Given the description of an element on the screen output the (x, y) to click on. 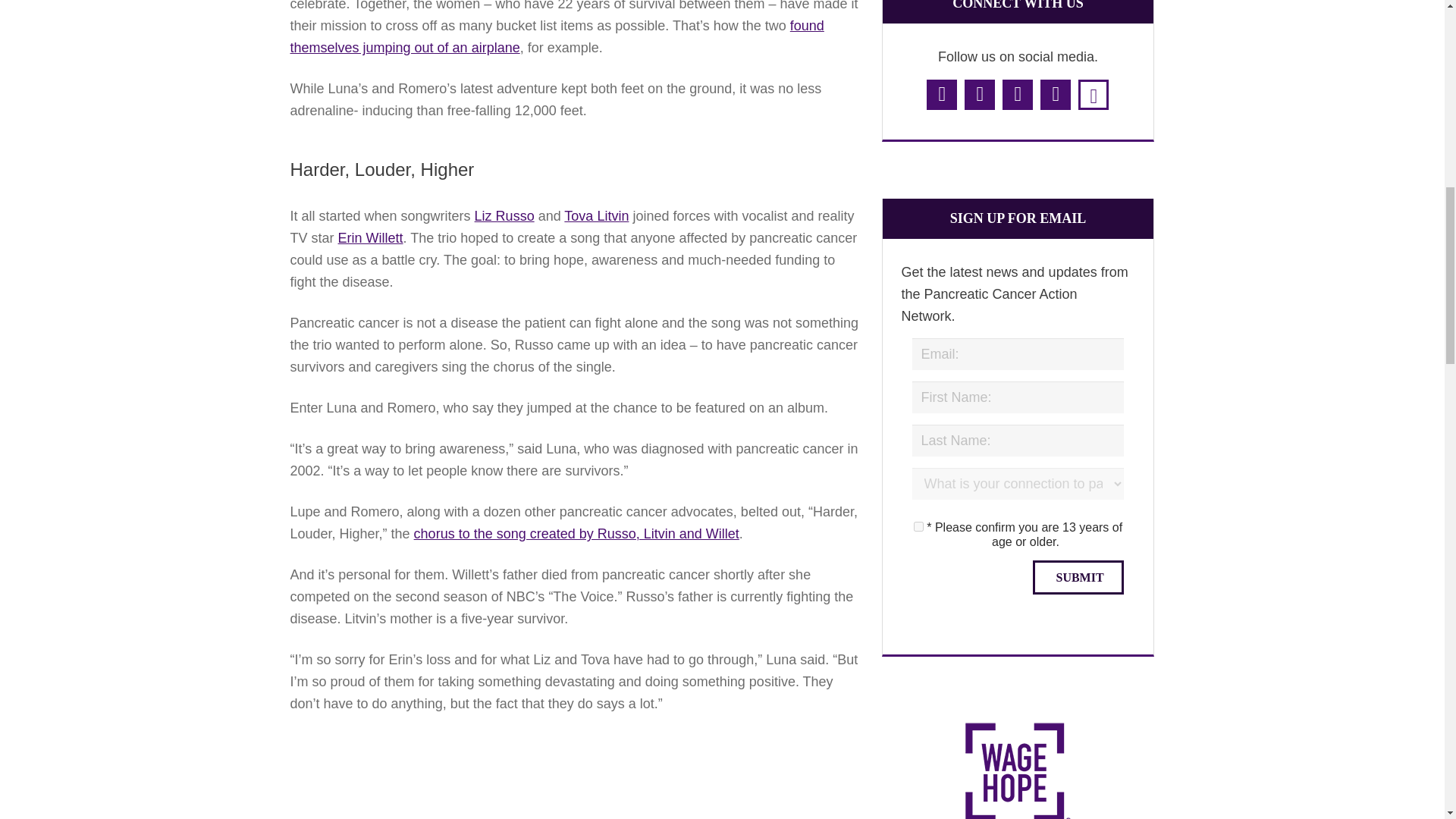
Yes (918, 526)
